Given the description of an element on the screen output the (x, y) to click on. 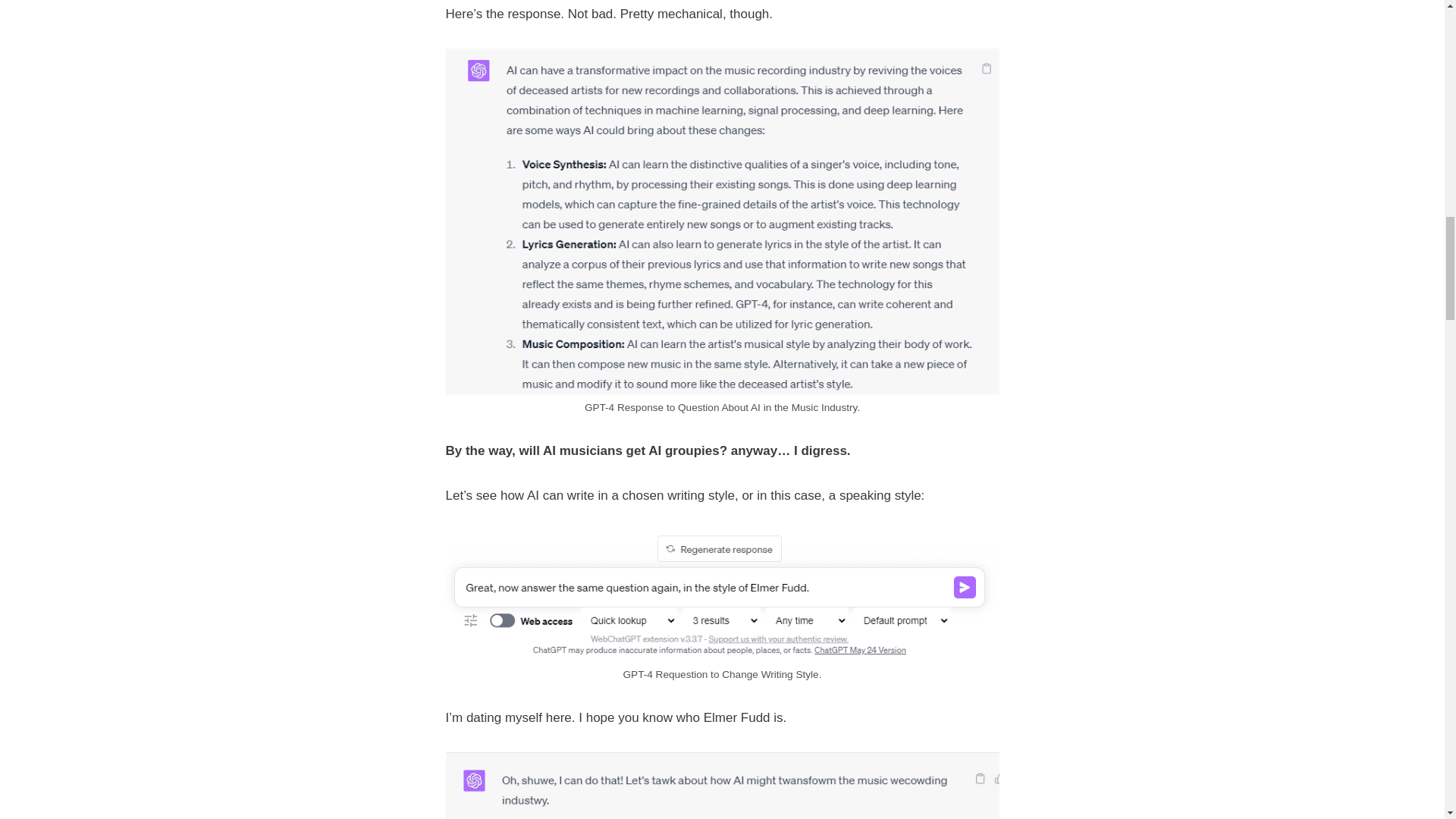
Will AI Replace Content Writers? Fear or Fear Not 4 (721, 785)
Will AI Replace Content Writers? Fear or Fear Not 3 (721, 594)
